Given the description of an element on the screen output the (x, y) to click on. 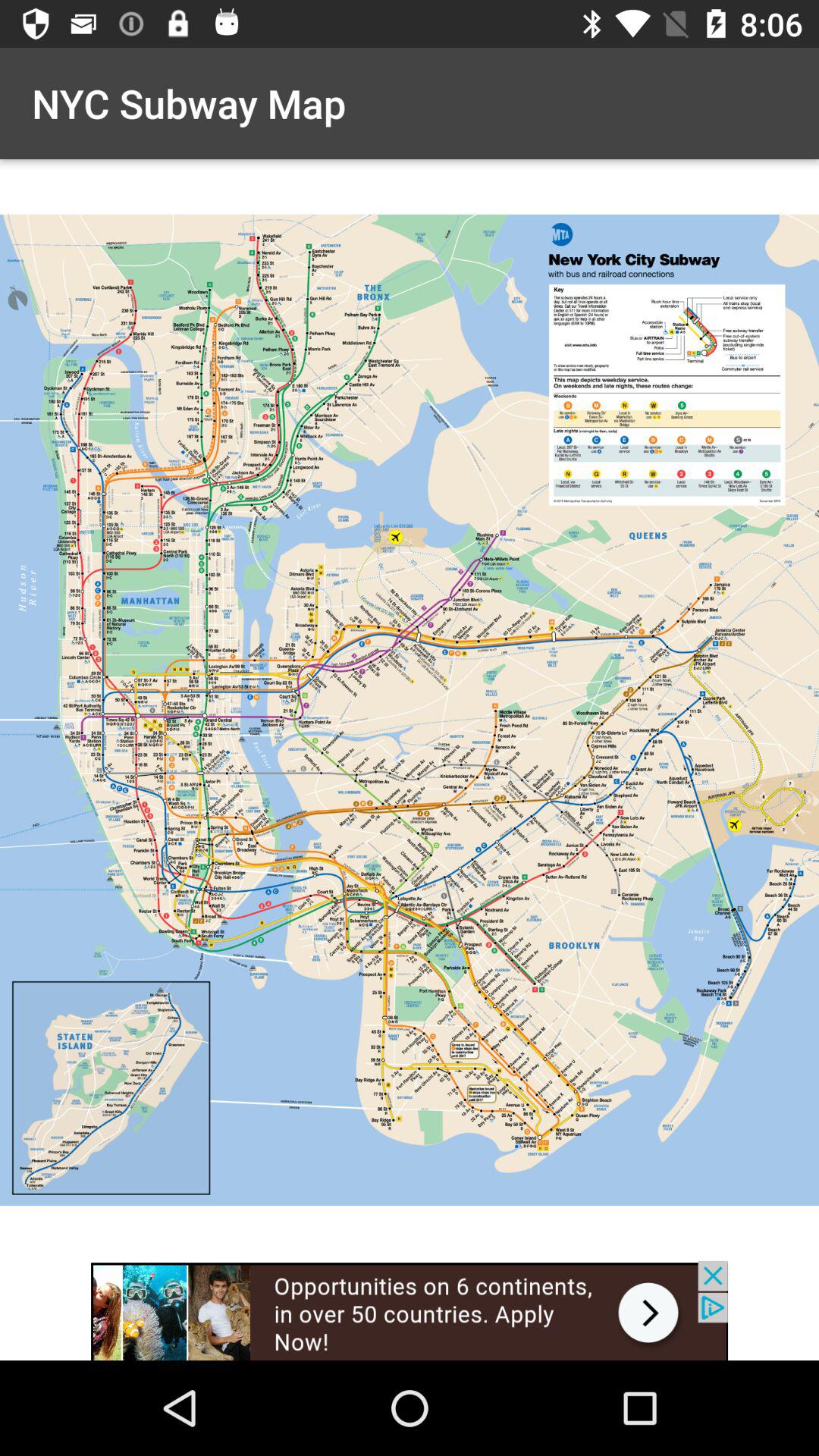
play patton (409, 1310)
